Given the description of an element on the screen output the (x, y) to click on. 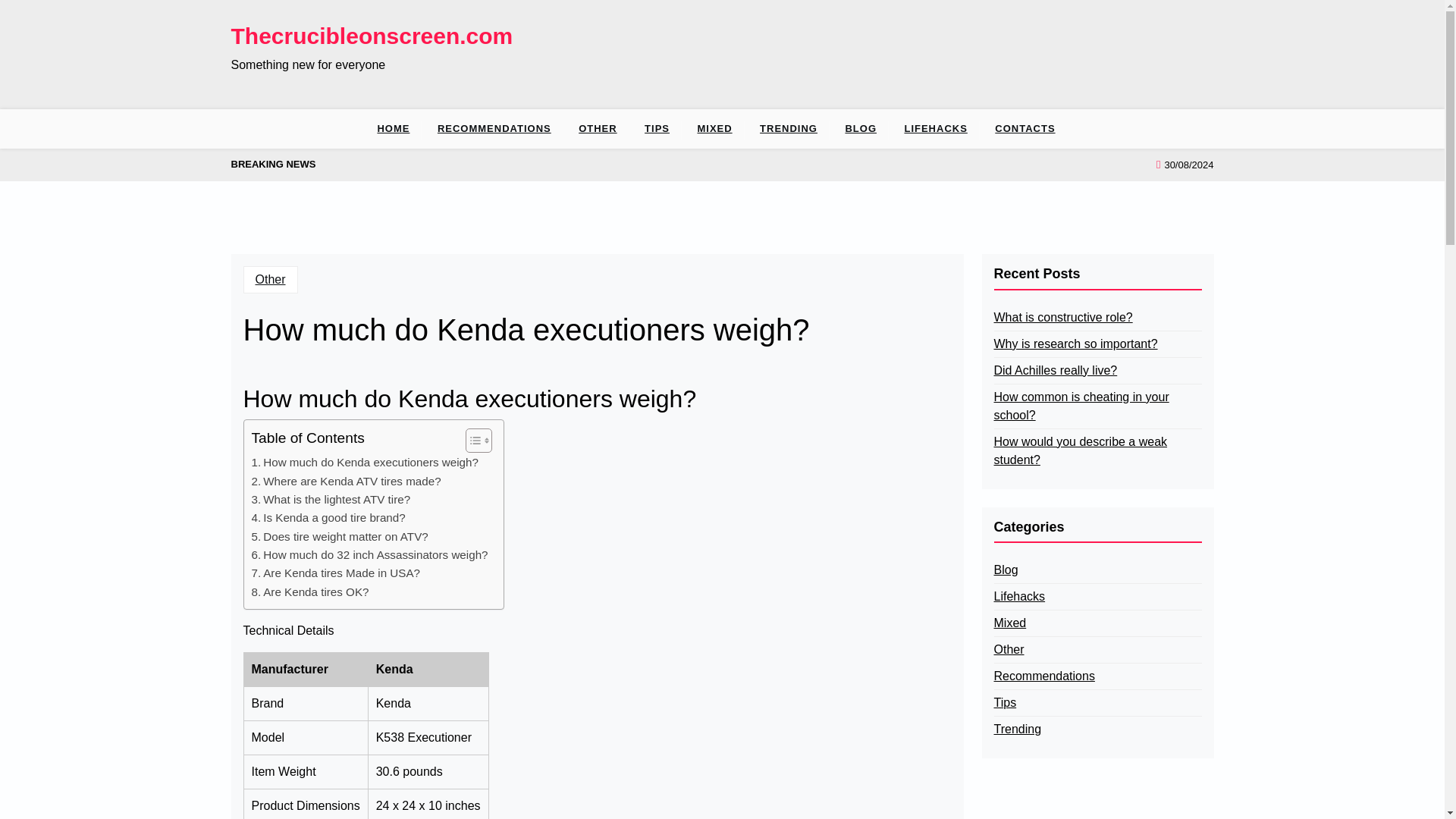
Are Kenda tires Made in USA? (335, 573)
Does tire weight matter on ATV? (339, 536)
Are Kenda tires OK? (310, 592)
CONTACTS (1024, 128)
Are Kenda tires Made in USA? (335, 573)
Where are Kenda ATV tires made? (346, 481)
BLOG (860, 128)
What is the lightest ATV tire? (330, 499)
OTHER (597, 128)
Other (270, 279)
